Given the description of an element on the screen output the (x, y) to click on. 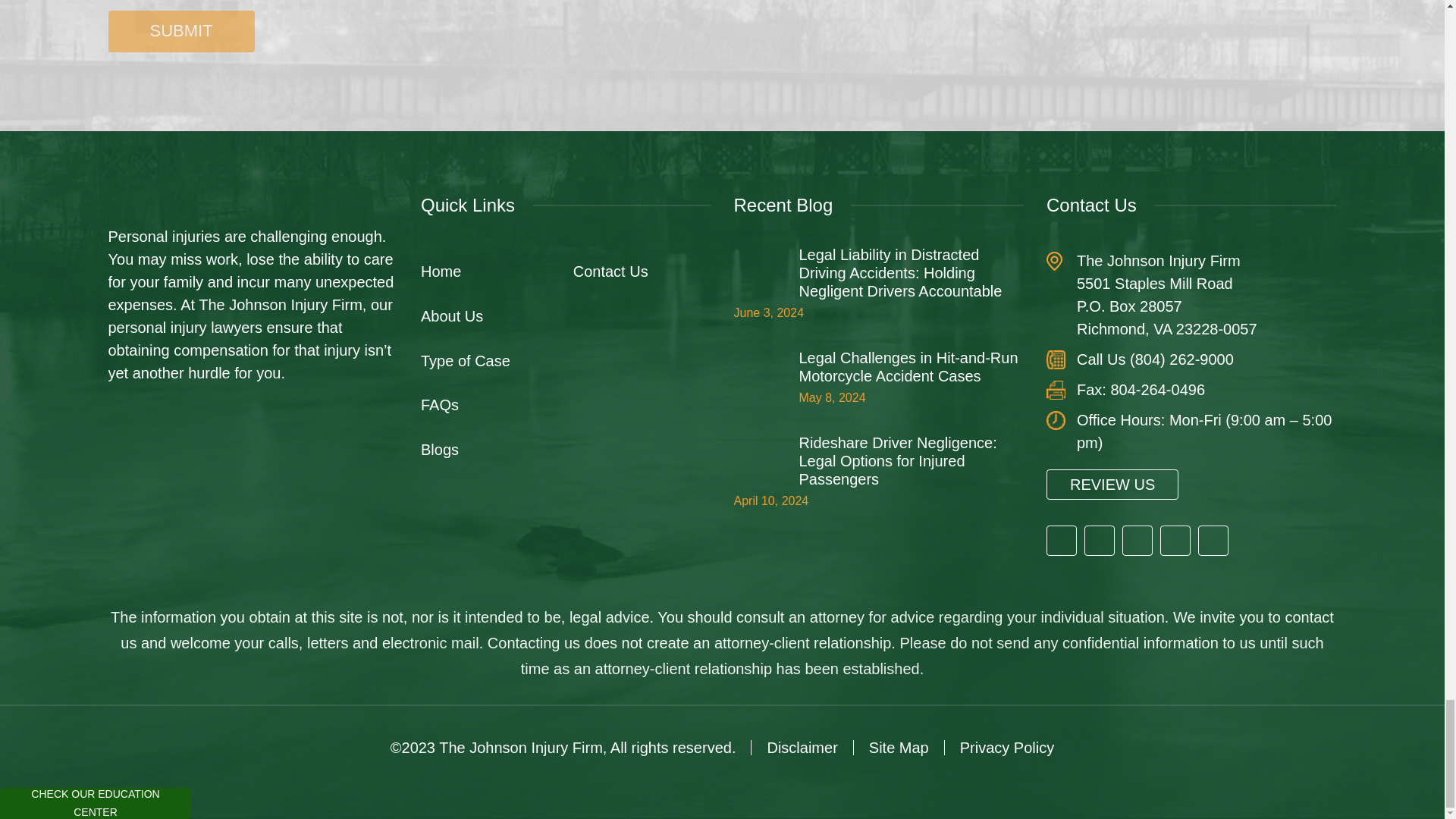
Submit (180, 31)
